Given the description of an element on the screen output the (x, y) to click on. 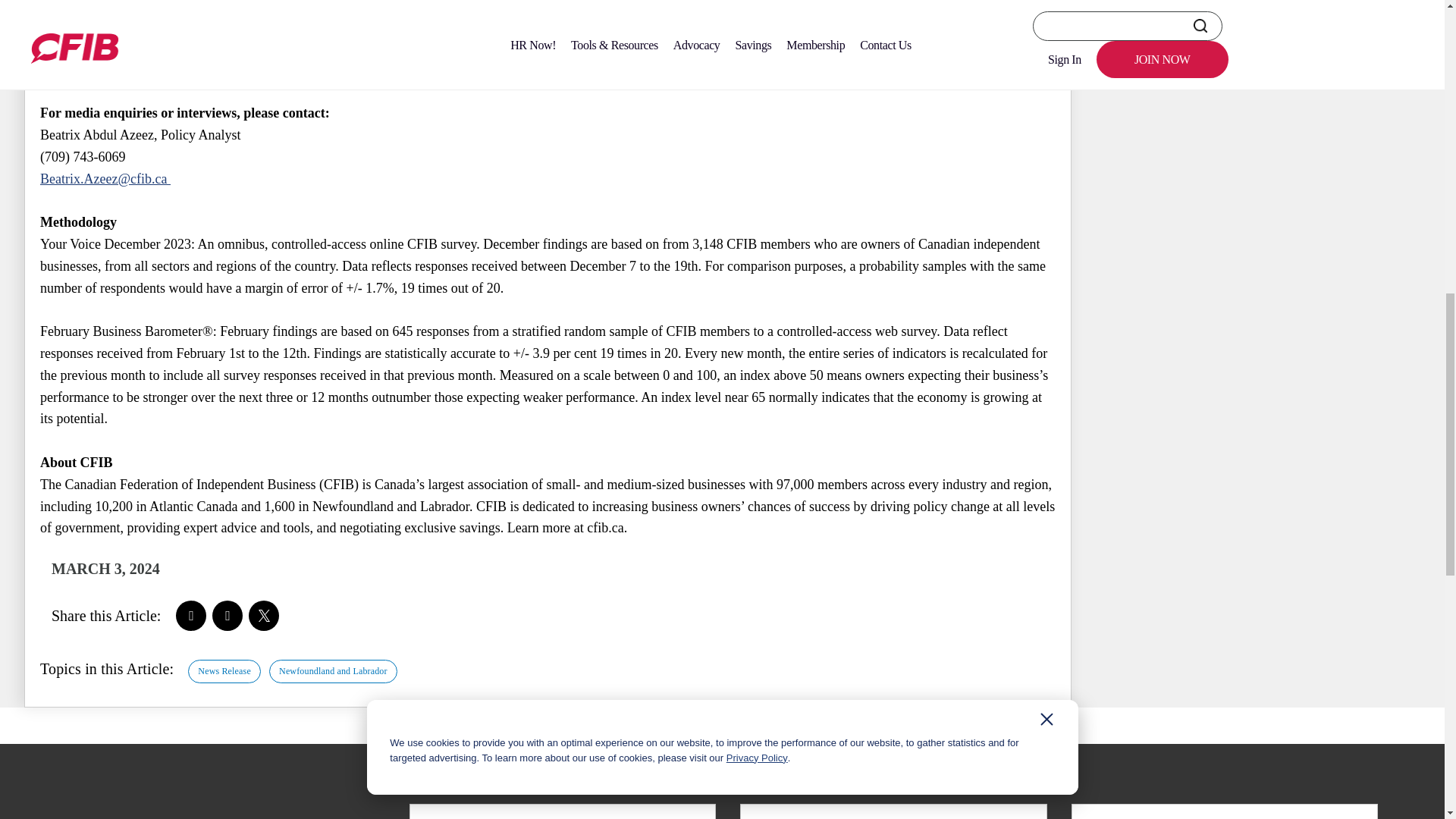
Share on Twitter (263, 615)
Share on LinkedIn (227, 615)
News Release (223, 671)
Share on Facebook (191, 615)
Share on Twitter (263, 615)
Share on LinkedIn (227, 615)
Newfoundland and Labrador (333, 671)
Share on Facebook (191, 615)
